Given the description of an element on the screen output the (x, y) to click on. 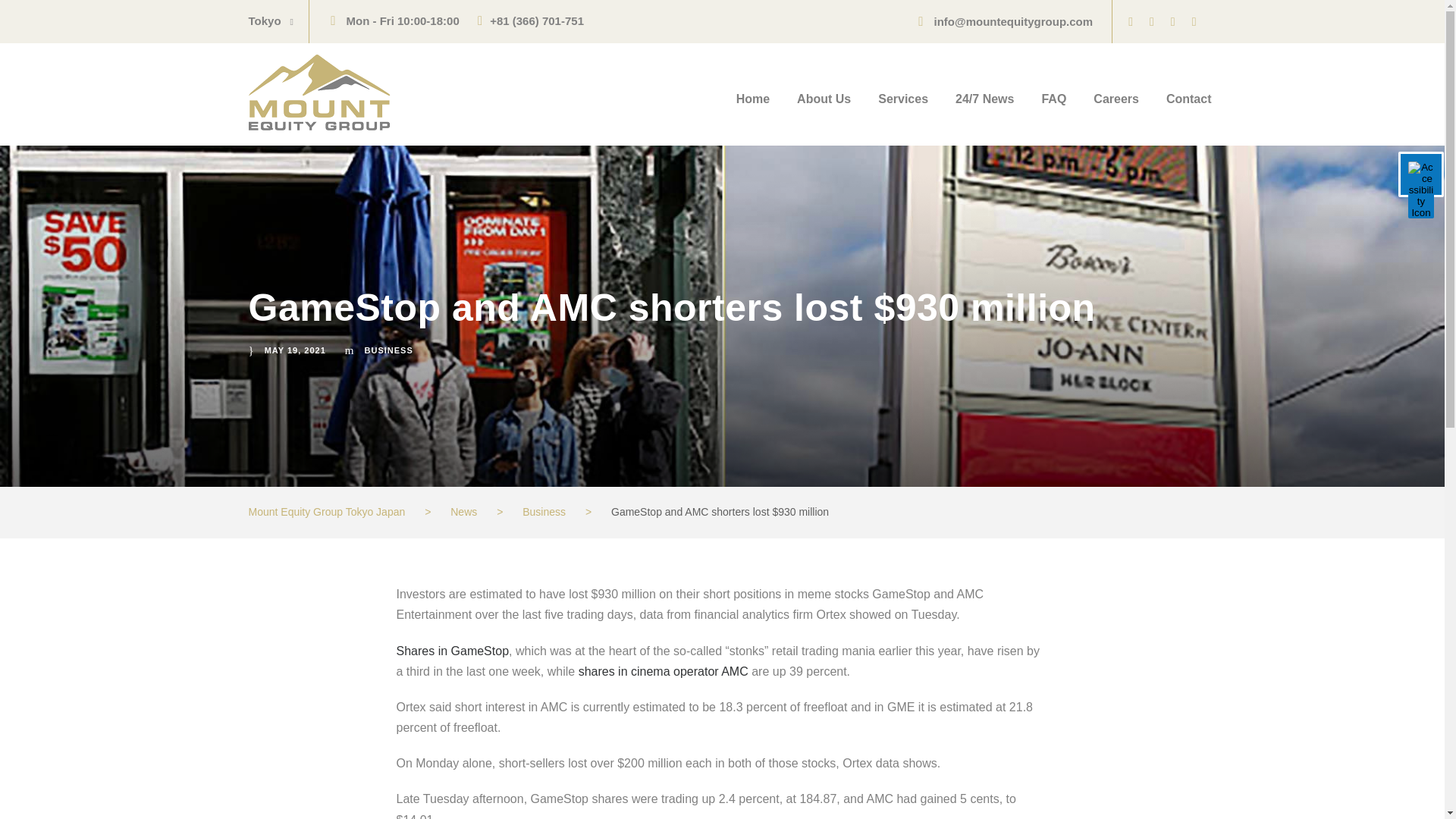
Go to the Business Category archives. (544, 511)
Home (753, 106)
Go to News. (463, 511)
Go to Mount Equity Group Tokyo Japan. (327, 511)
Mount Equity Group Japan (319, 92)
